Given the description of an element on the screen output the (x, y) to click on. 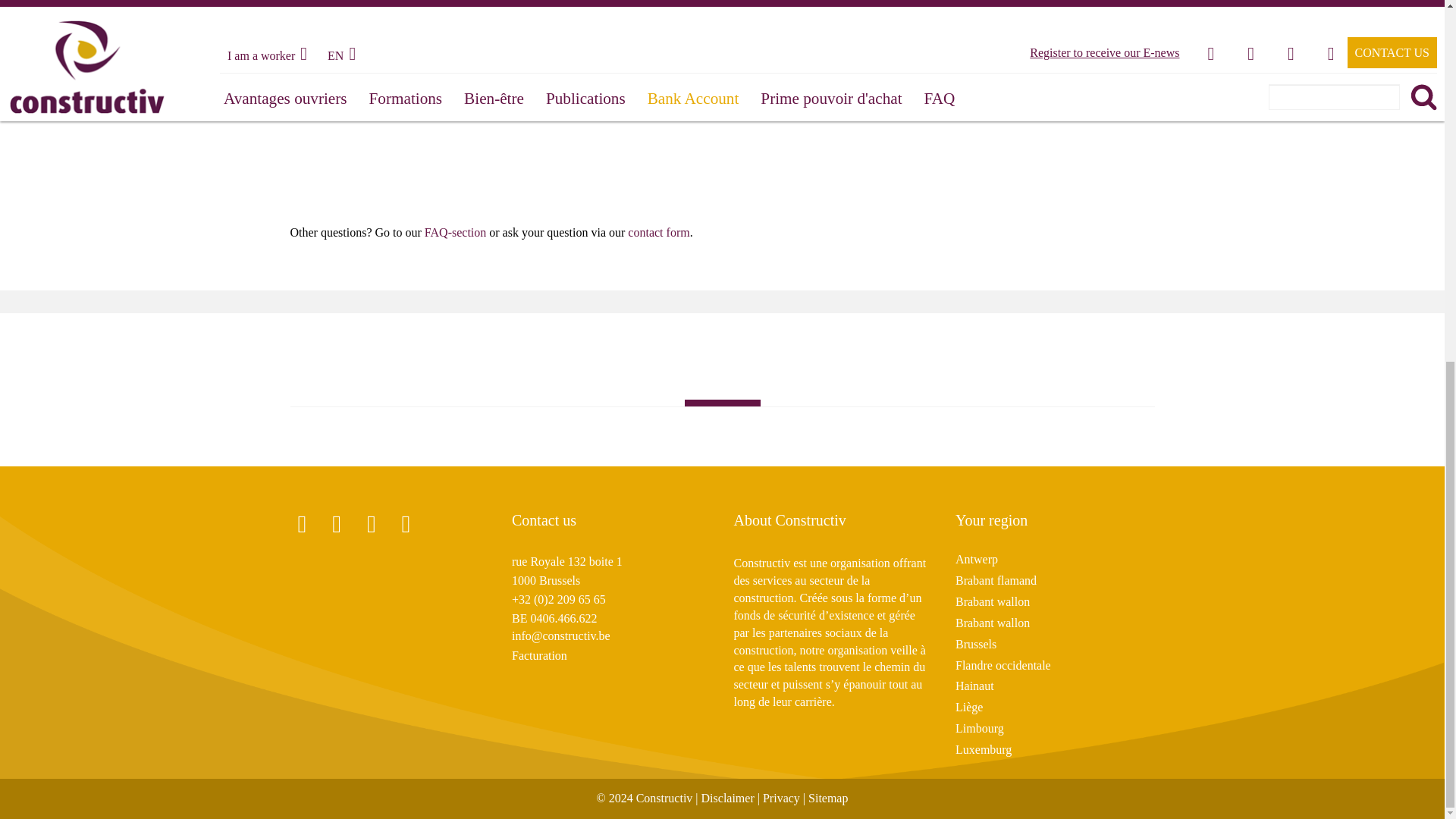
YouTube video player (501, 47)
